Given the description of an element on the screen output the (x, y) to click on. 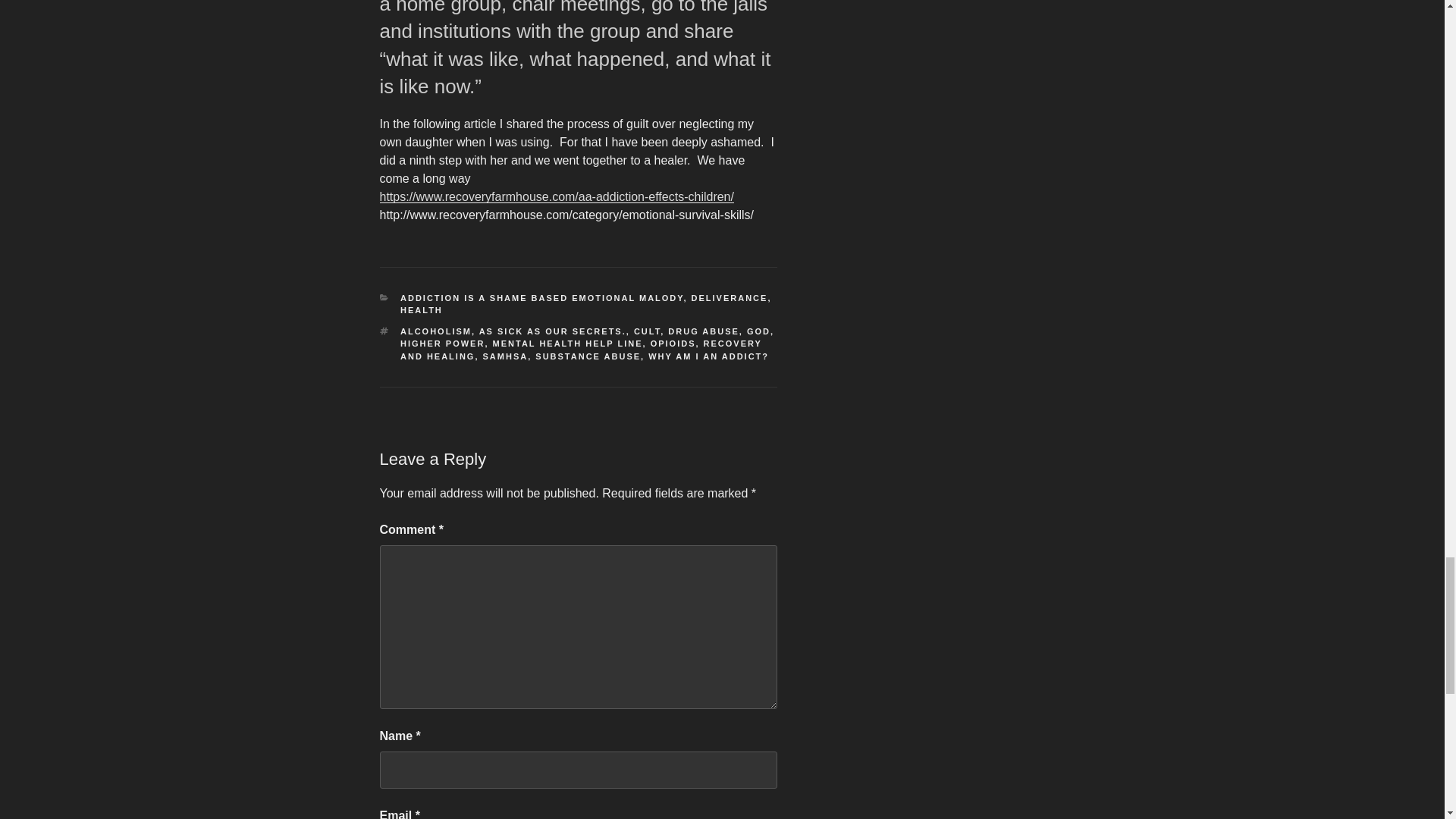
AS SICK AS OUR SECRETS. (552, 330)
MENTAL HEALTH HELP LINE (568, 343)
GOD (758, 330)
CULT (647, 330)
SAMHSA (505, 356)
WHY AM I AN ADDICT? (707, 356)
HIGHER POWER (442, 343)
HEALTH (421, 309)
OPIOIDS (672, 343)
ADDICTION IS A SHAME BASED EMOTIONAL MALODY (541, 297)
RECOVERY AND HEALING (580, 350)
SUBSTANCE ABUSE (587, 356)
DELIVERANCE (729, 297)
ALCOHOLISM (435, 330)
DRUG ABUSE (703, 330)
